Given the description of an element on the screen output the (x, y) to click on. 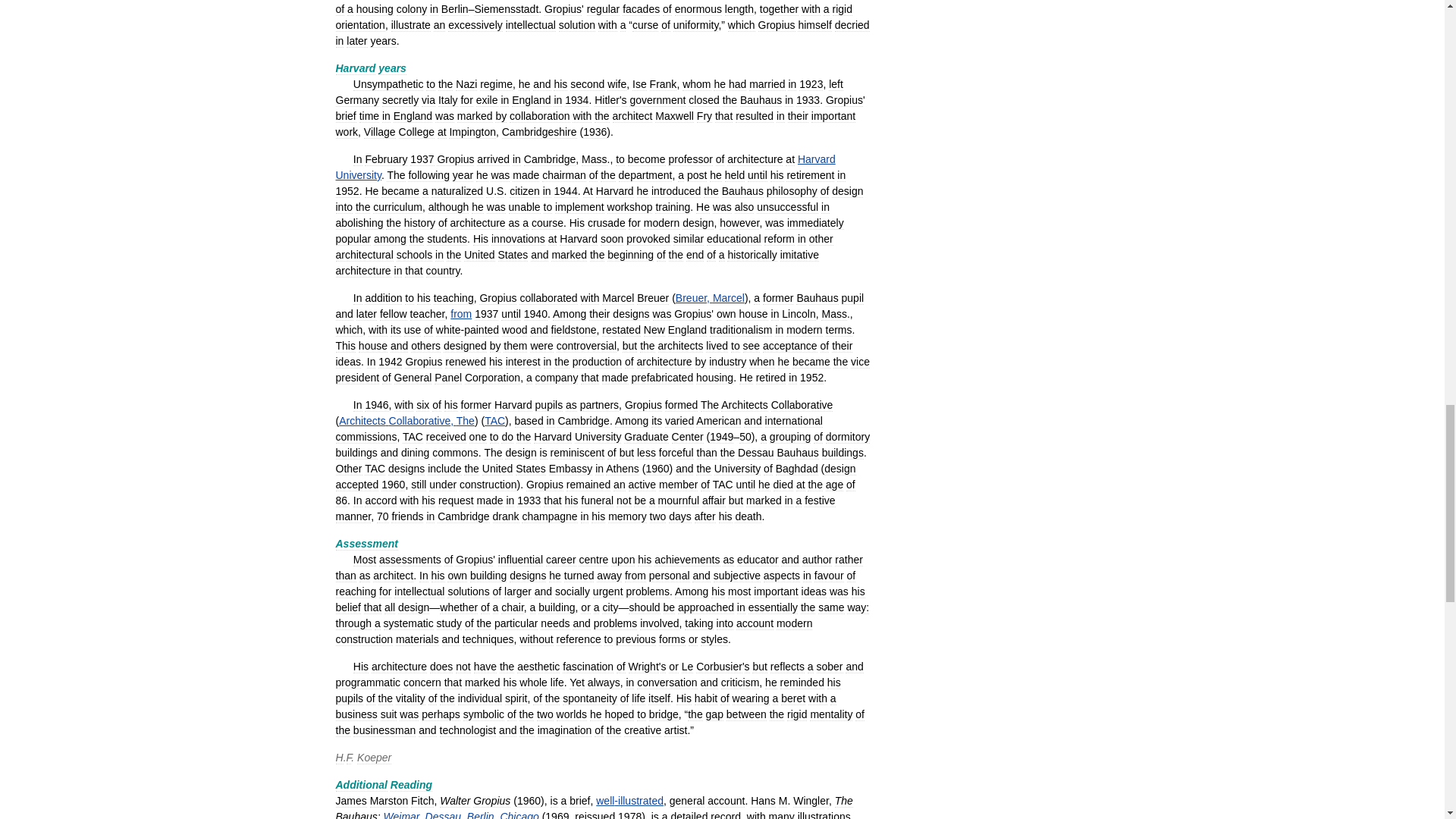
Berlin (481, 814)
Dessau (443, 814)
Harvard University (584, 166)
from (460, 313)
Chicago (518, 814)
Weimar (401, 814)
Breuer, Marcel (709, 297)
TAC (494, 420)
well-illustrated (629, 800)
Architects Collaborative, The (406, 420)
